Given the description of an element on the screen output the (x, y) to click on. 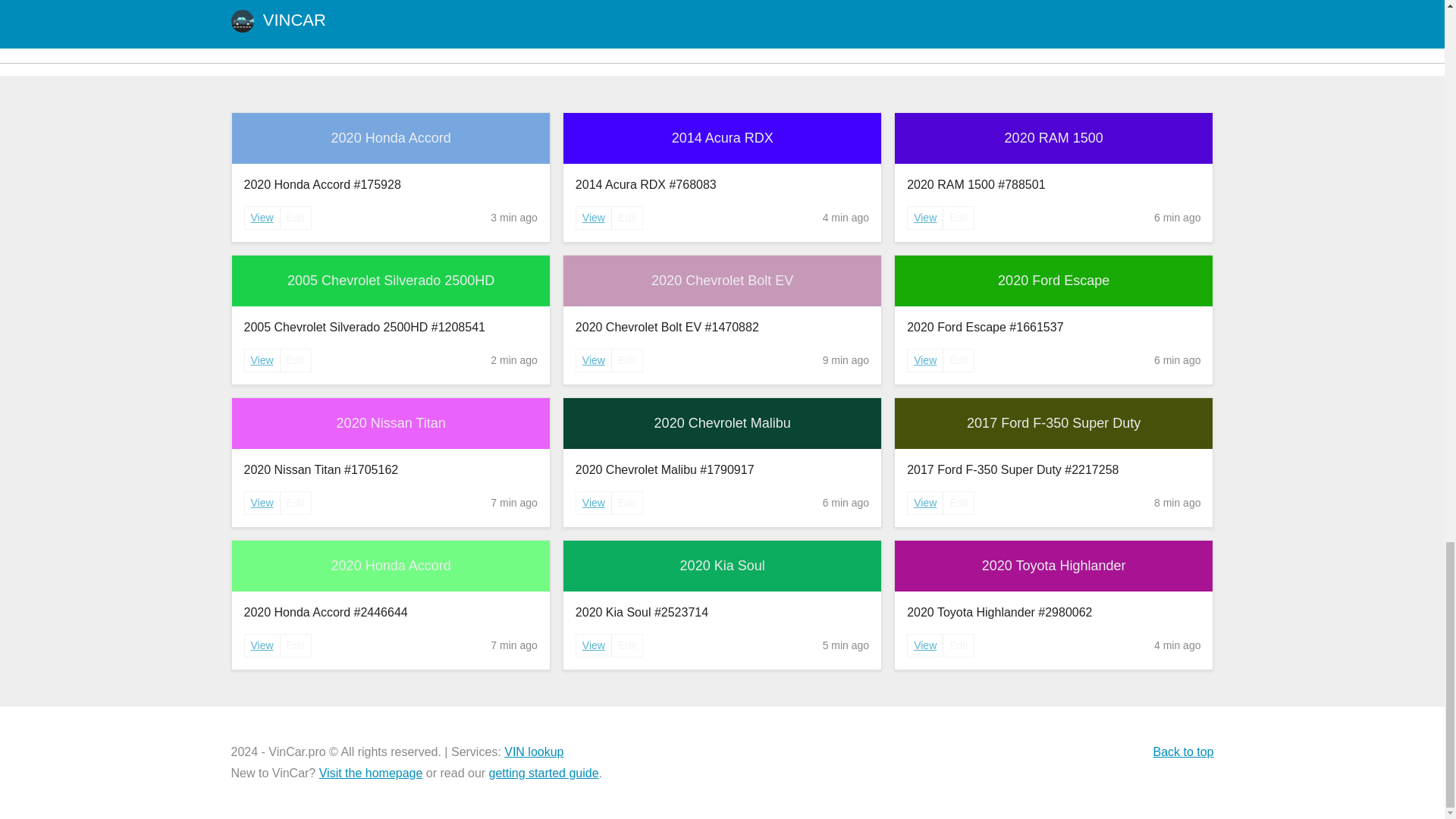
2020 Kia Soul (721, 565)
2020 Chevrolet TRAVERSE problems (413, 22)
2020 Ford Escape (1053, 280)
View (593, 360)
2014 Acura RDX (721, 138)
View (261, 217)
VIN lookup (533, 751)
View (925, 502)
2020 Nissan Titan (390, 423)
2020 Chevrolet Bolt EV (721, 280)
